Given the description of an element on the screen output the (x, y) to click on. 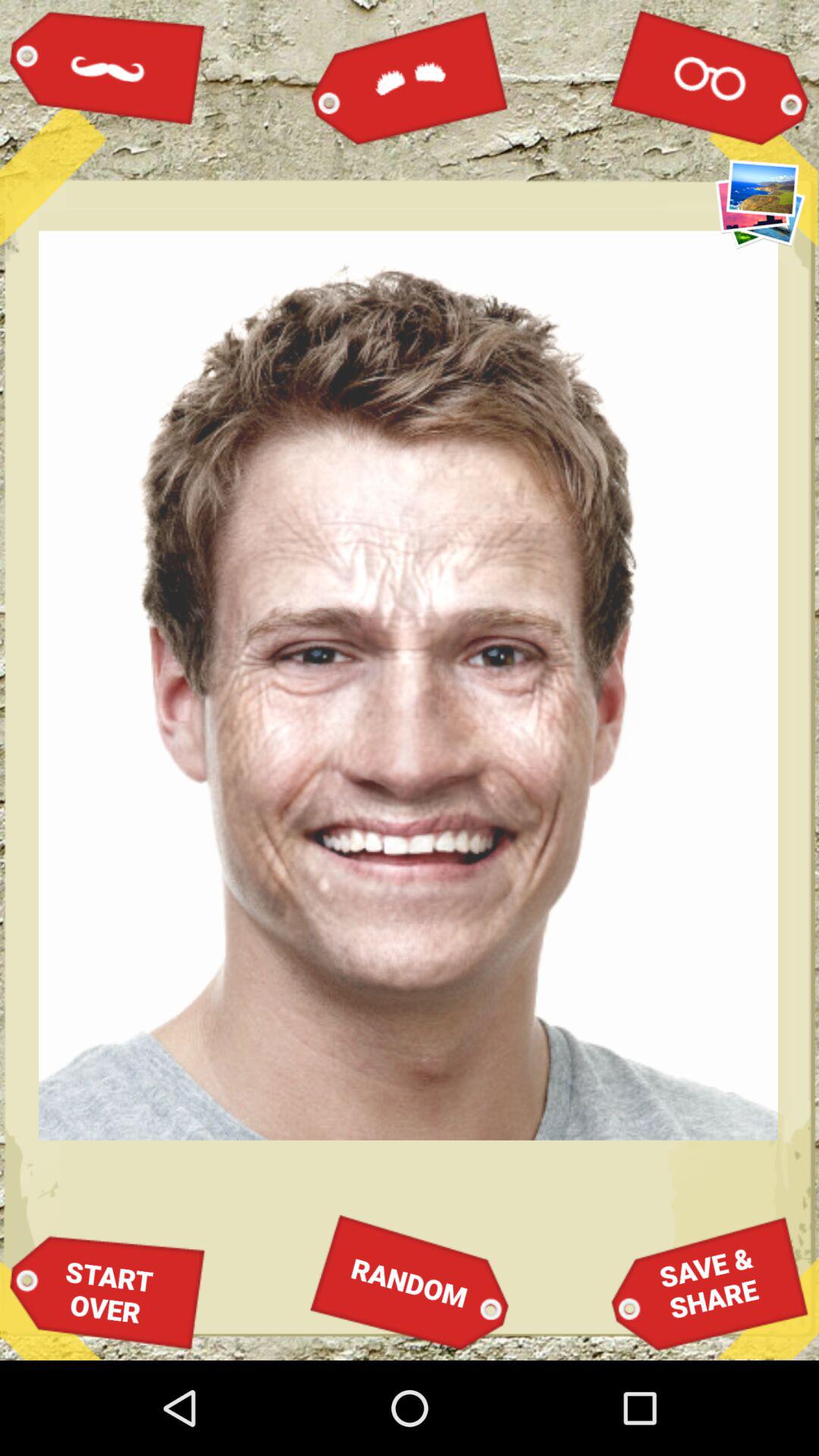
turn off save &
share item (709, 1282)
